Given the description of an element on the screen output the (x, y) to click on. 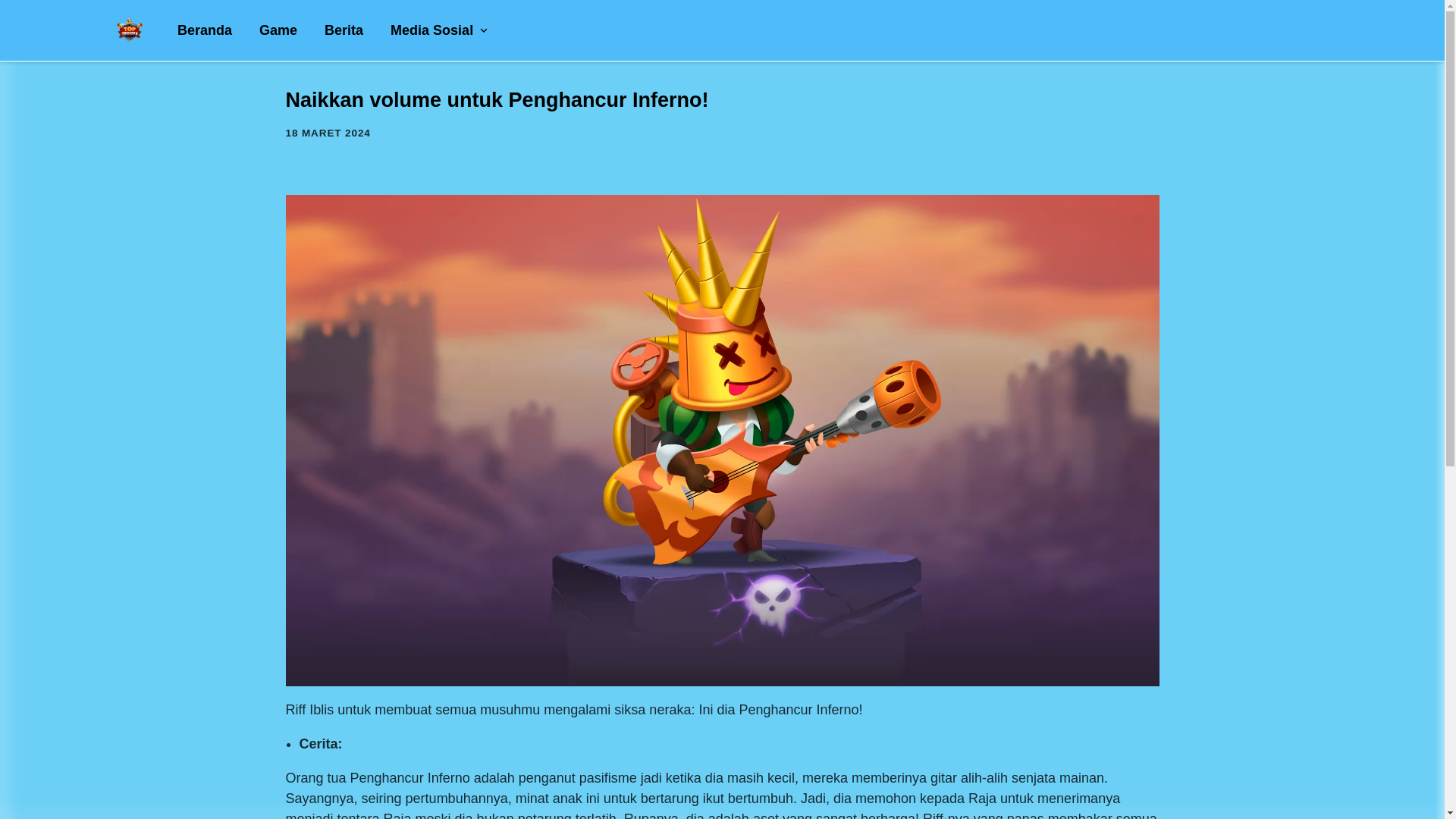
Media Sosial (440, 30)
Game (278, 30)
Berita (344, 30)
Beranda (204, 30)
